Given the description of an element on the screen output the (x, y) to click on. 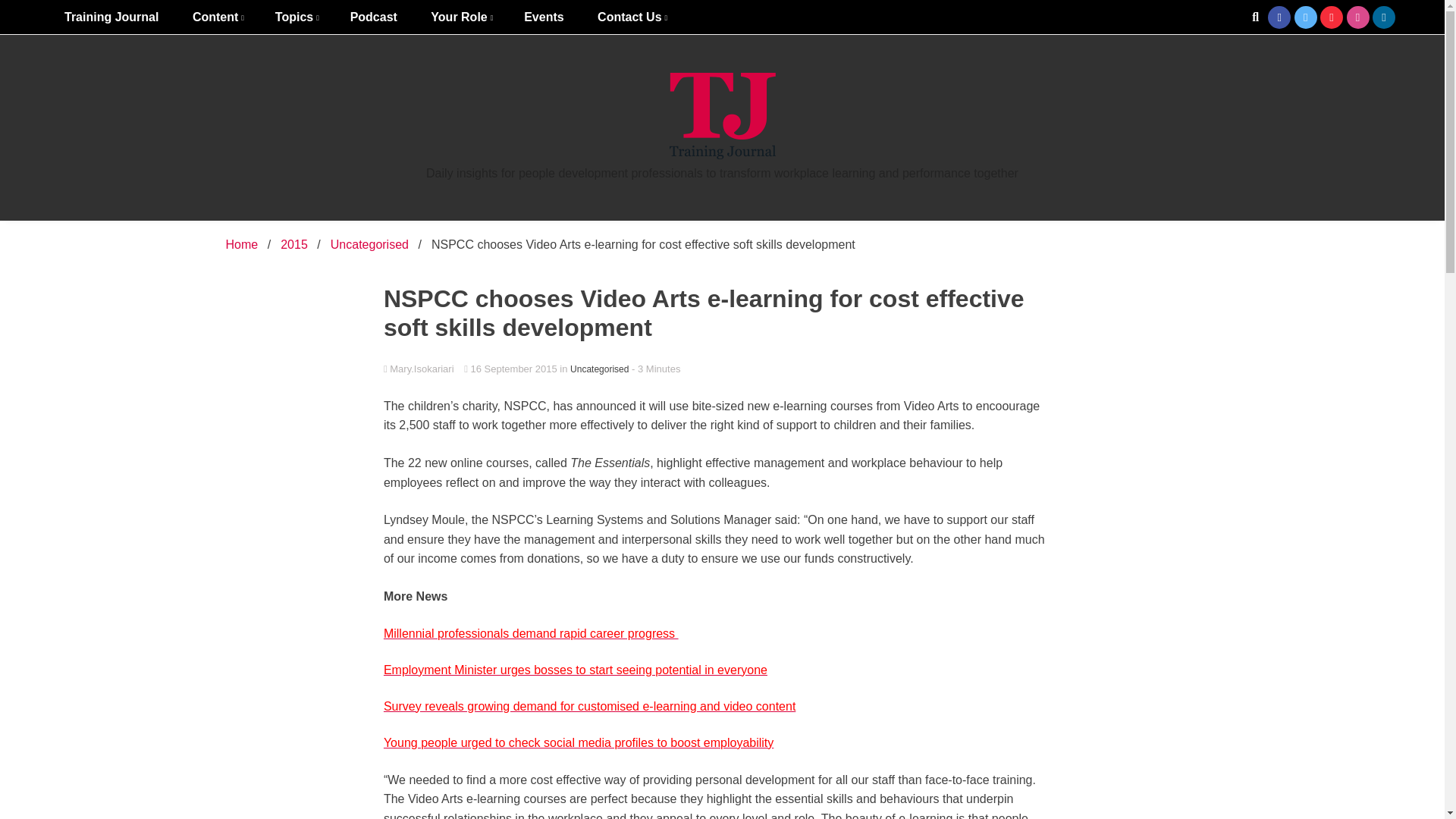
Your Role (459, 17)
Training Journal (111, 17)
Content (216, 17)
Events (543, 17)
Podcast (373, 17)
Topics (295, 17)
Estimated Reading Time of Article (655, 368)
